Given the description of an element on the screen output the (x, y) to click on. 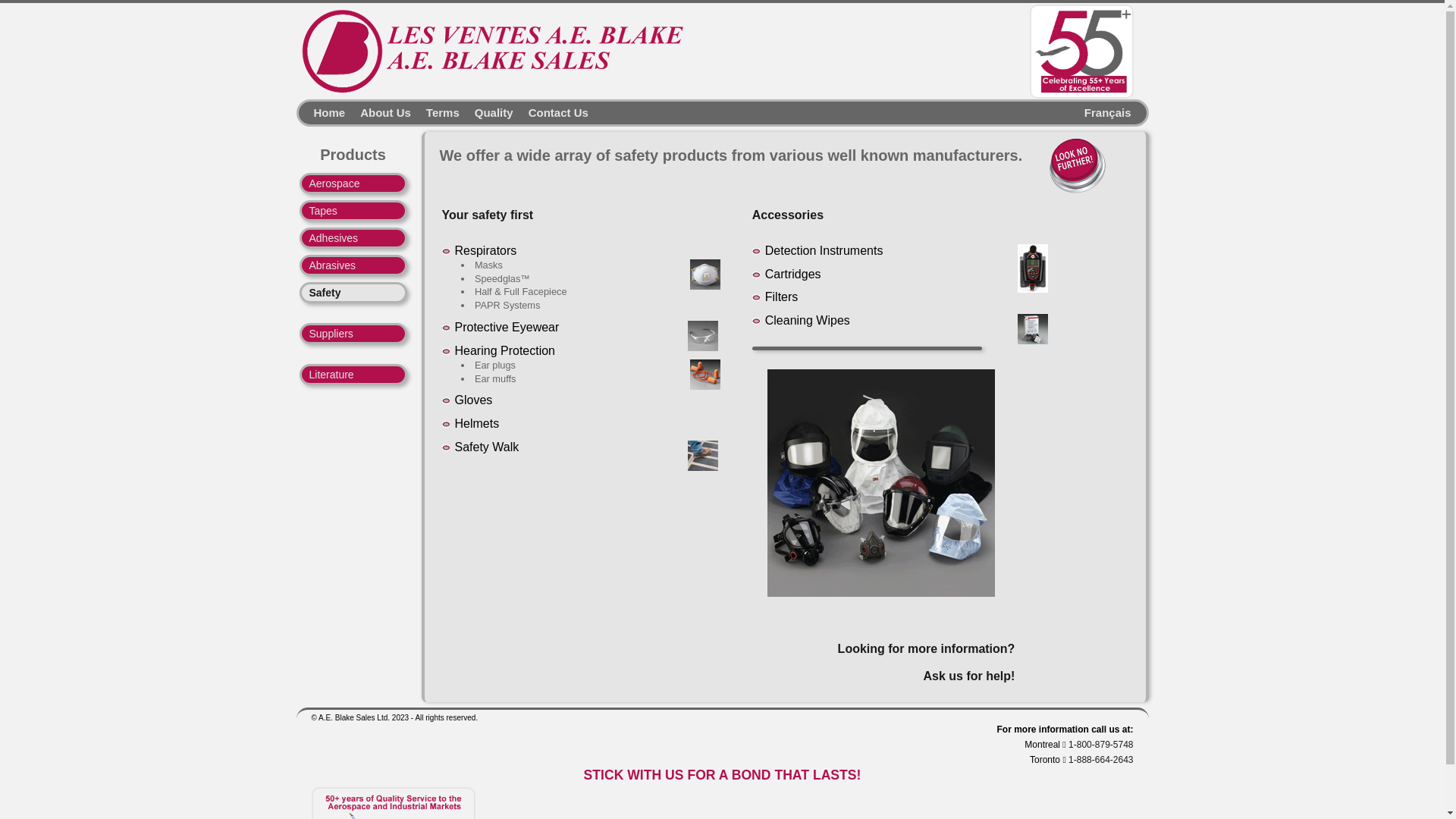
Adhesives Element type: text (352, 237)
Literature Element type: text (352, 374)
1-888-664-2643 Element type: text (1100, 759)
1-800-879-5748 Element type: text (1100, 744)
Terms Element type: text (435, 110)
A.E. Blake Sales Ltd. - Industrial Distributor Element type: hover (497, 50)
Safety Products Element type: hover (906, 499)
Aerospace Element type: text (352, 183)
Tapes Element type: text (352, 210)
Suppliers Element type: text (352, 333)
Home Element type: text (321, 110)
About Us Element type: text (378, 110)
Abrasives Element type: text (352, 265)
50 years of Excellence Element type: hover (1081, 51)
Safety Element type: text (352, 292)
Contact Us Element type: text (550, 110)
Quality Element type: text (486, 110)
